Given the description of an element on the screen output the (x, y) to click on. 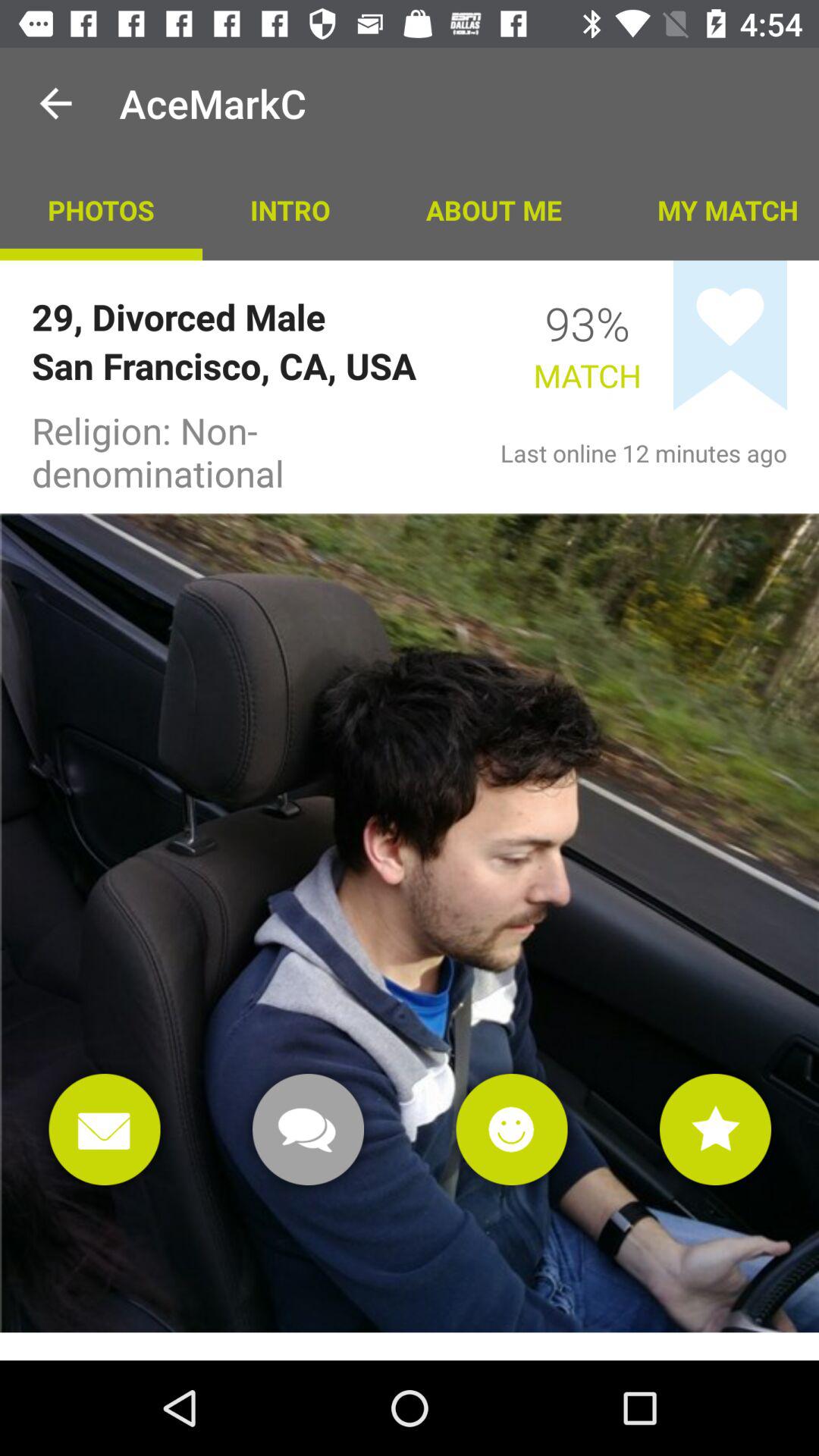
turn off app above photos (55, 103)
